Given the description of an element on the screen output the (x, y) to click on. 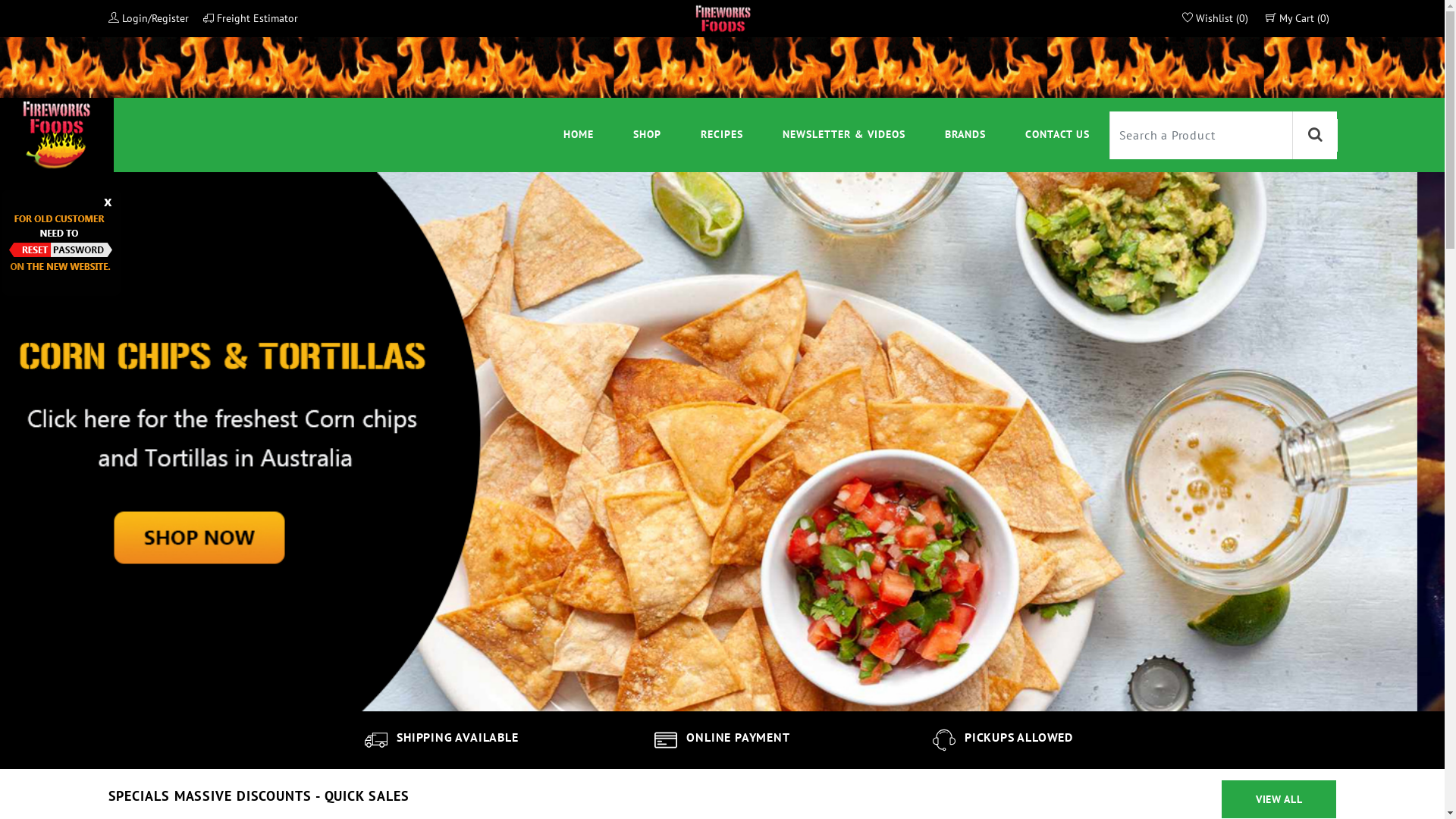
My Cart (0) Element type: text (1296, 18)
Login/Register Element type: text (147, 18)
SHOP Element type: text (646, 134)
NEWSLETTER & VIDEOS Element type: text (843, 134)
Freight Estimator Element type: text (250, 18)
BRANDS Element type: text (965, 134)
CONTACT US Element type: text (1057, 134)
Wishlist (0) Element type: text (1214, 18)
HOME Element type: text (578, 134)
VIEW ALL Element type: text (1278, 799)
RECIPES Element type: text (721, 134)
